Given the description of an element on the screen output the (x, y) to click on. 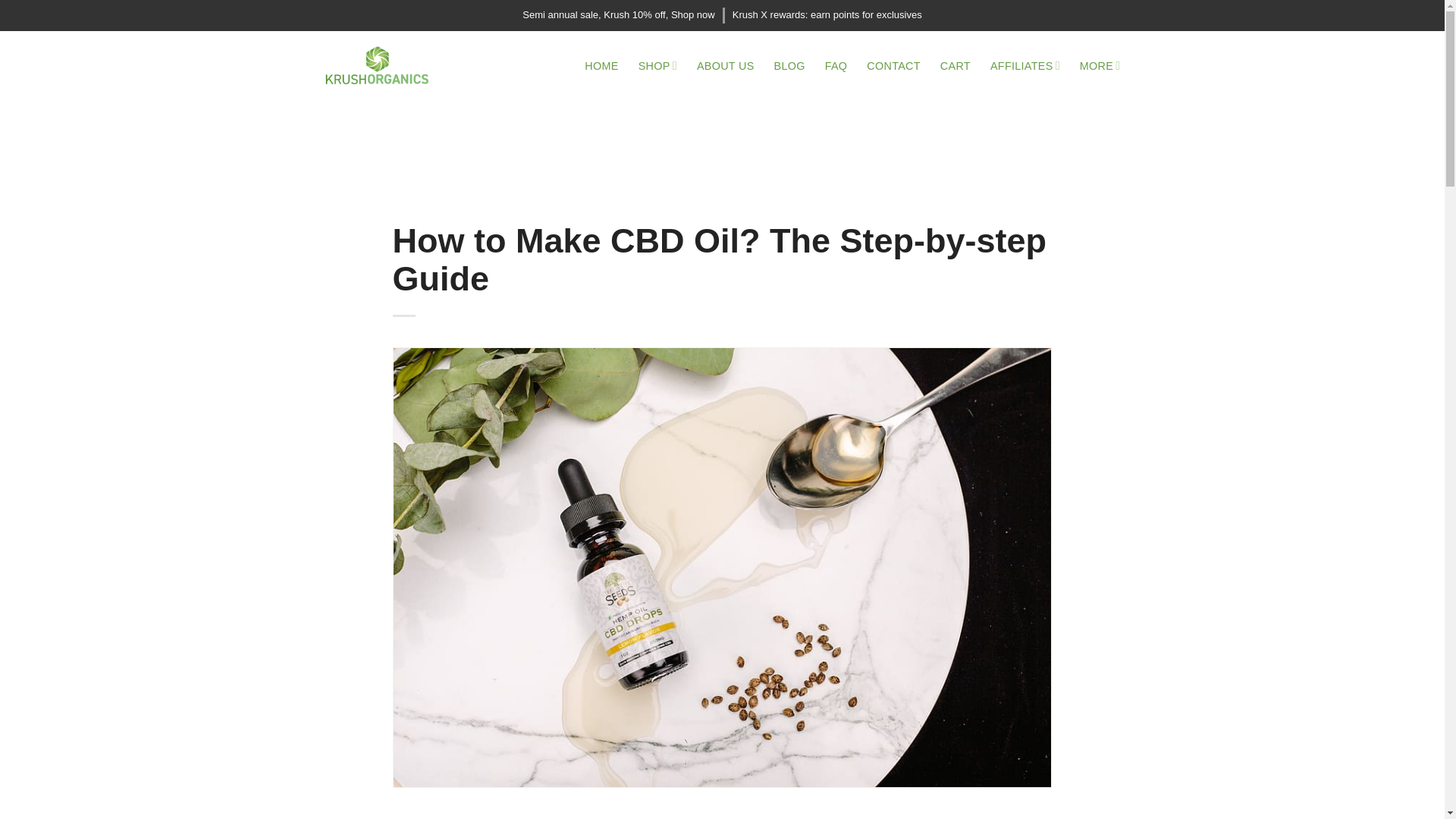
MORE (1100, 65)
FAQ (836, 65)
AFFILIATES (1024, 65)
ABOUT US (725, 65)
CONTACT (893, 65)
HOME (601, 65)
BLOG (789, 65)
CART (955, 65)
SHOP (658, 65)
